Given the description of an element on the screen output the (x, y) to click on. 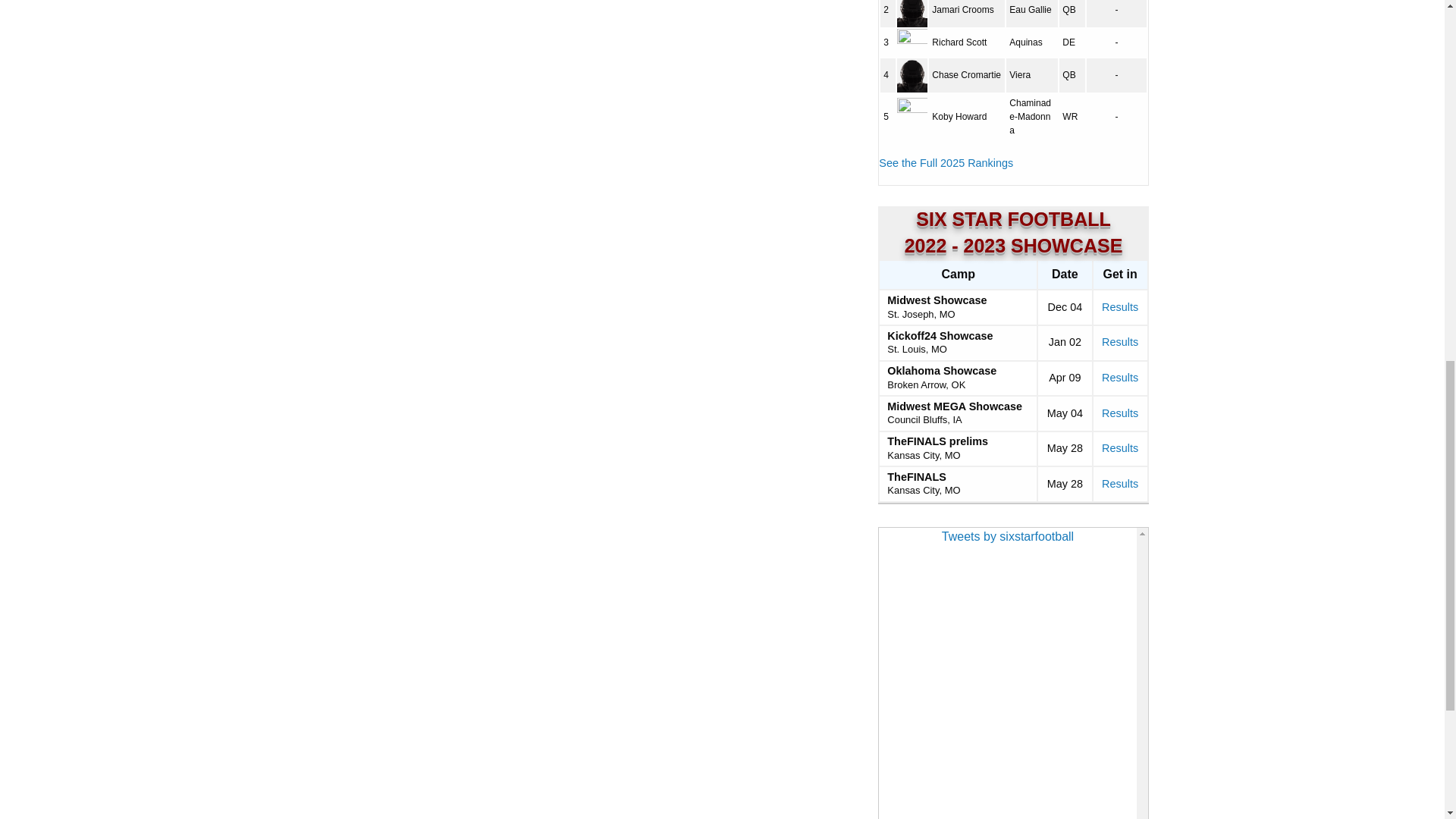
Results (1120, 448)
Results (1120, 413)
Results (1120, 377)
Results (1120, 306)
2025 Rankings (946, 162)
Results (1120, 341)
